Given the description of an element on the screen output the (x, y) to click on. 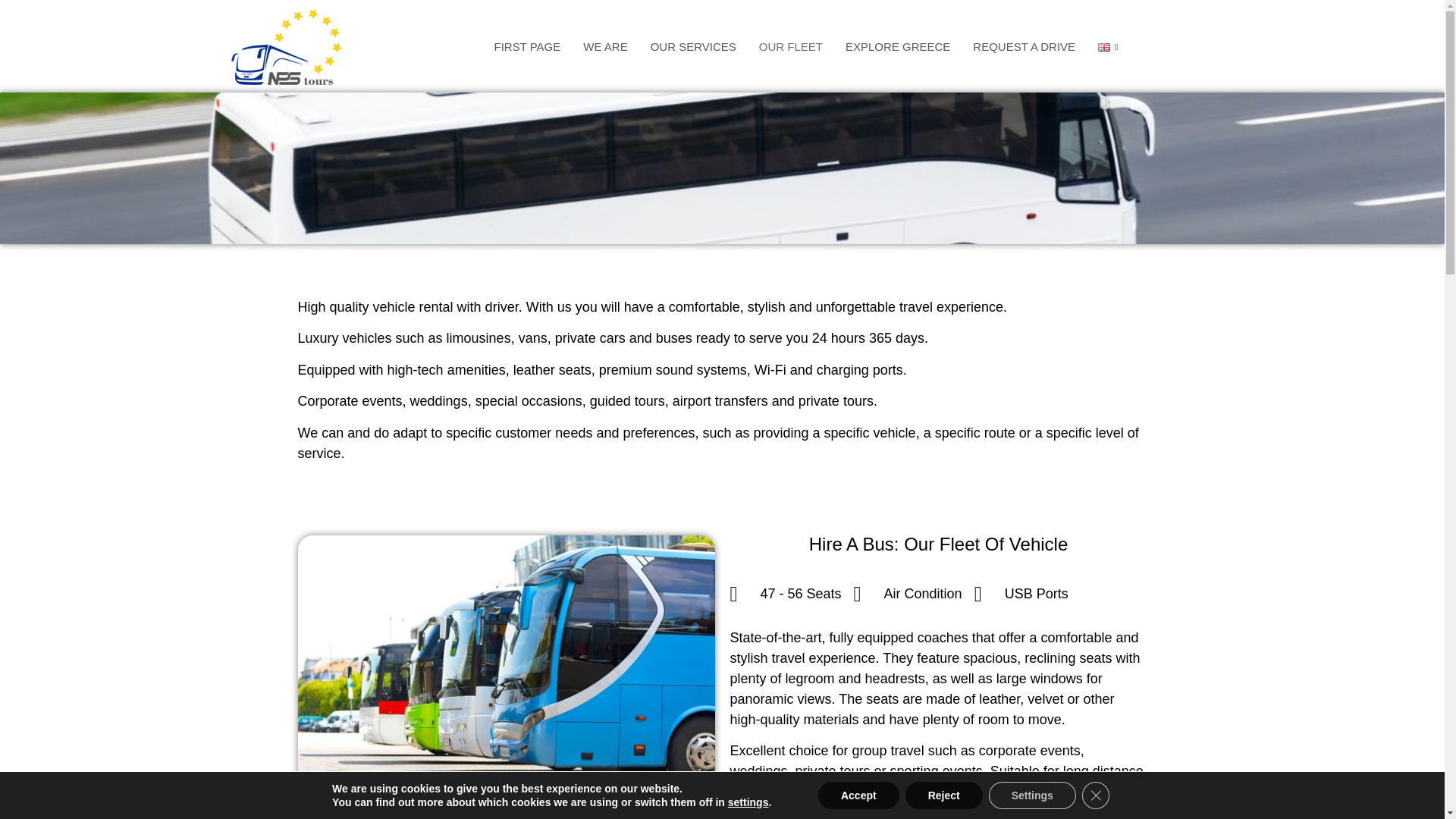
Settings (1031, 795)
Accept (858, 795)
OUR SERVICES (693, 47)
REQUEST A DRIVE (1023, 47)
FIRST PAGE (526, 47)
Close GDPR Cookie Banner (1095, 795)
EXPLORE GREECE (897, 47)
OUR FLEET (791, 47)
Reject (943, 795)
settings (748, 802)
